Given the description of an element on the screen output the (x, y) to click on. 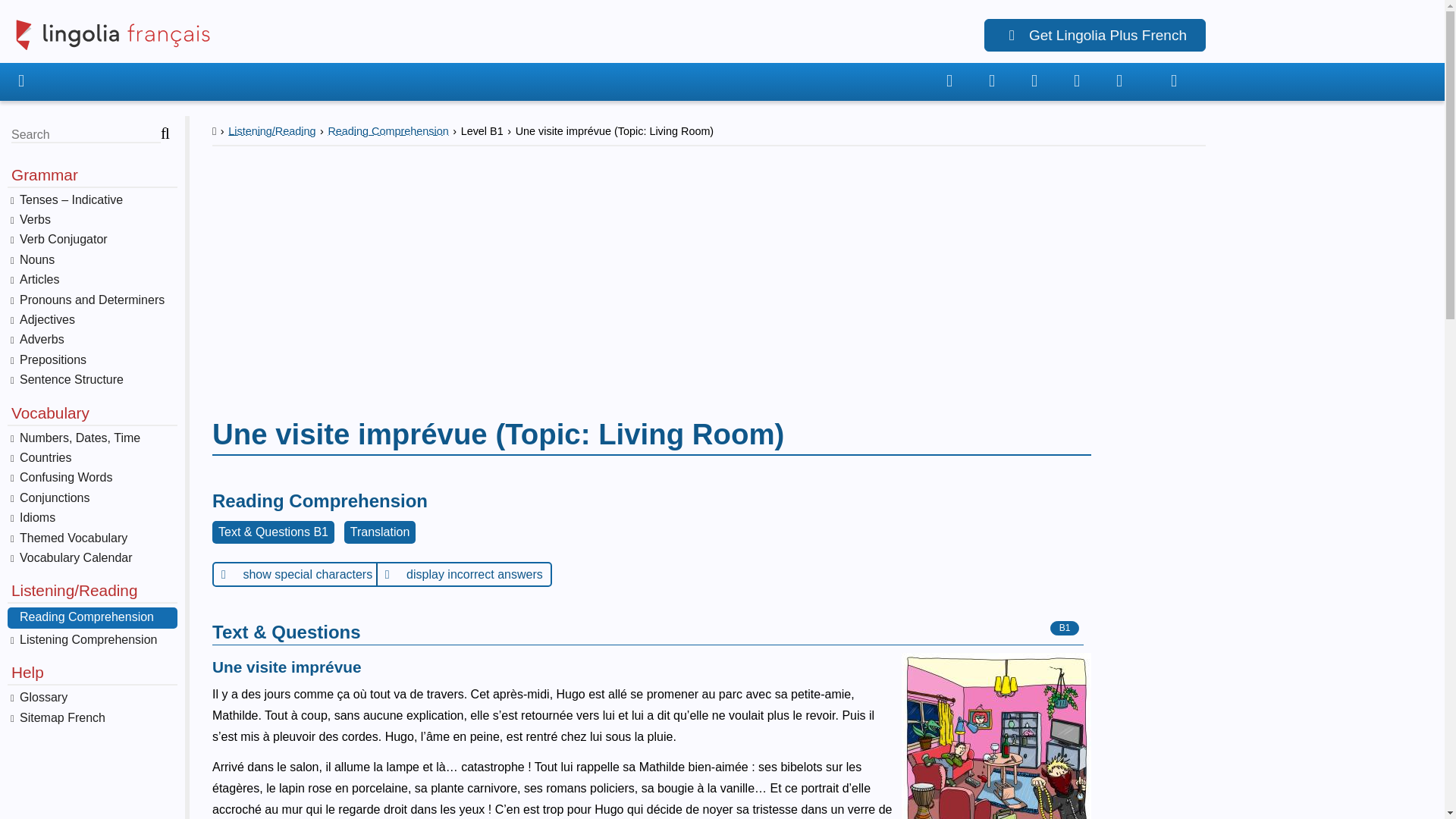
Get Lingolia Plus French (1094, 34)
